Given the description of an element on the screen output the (x, y) to click on. 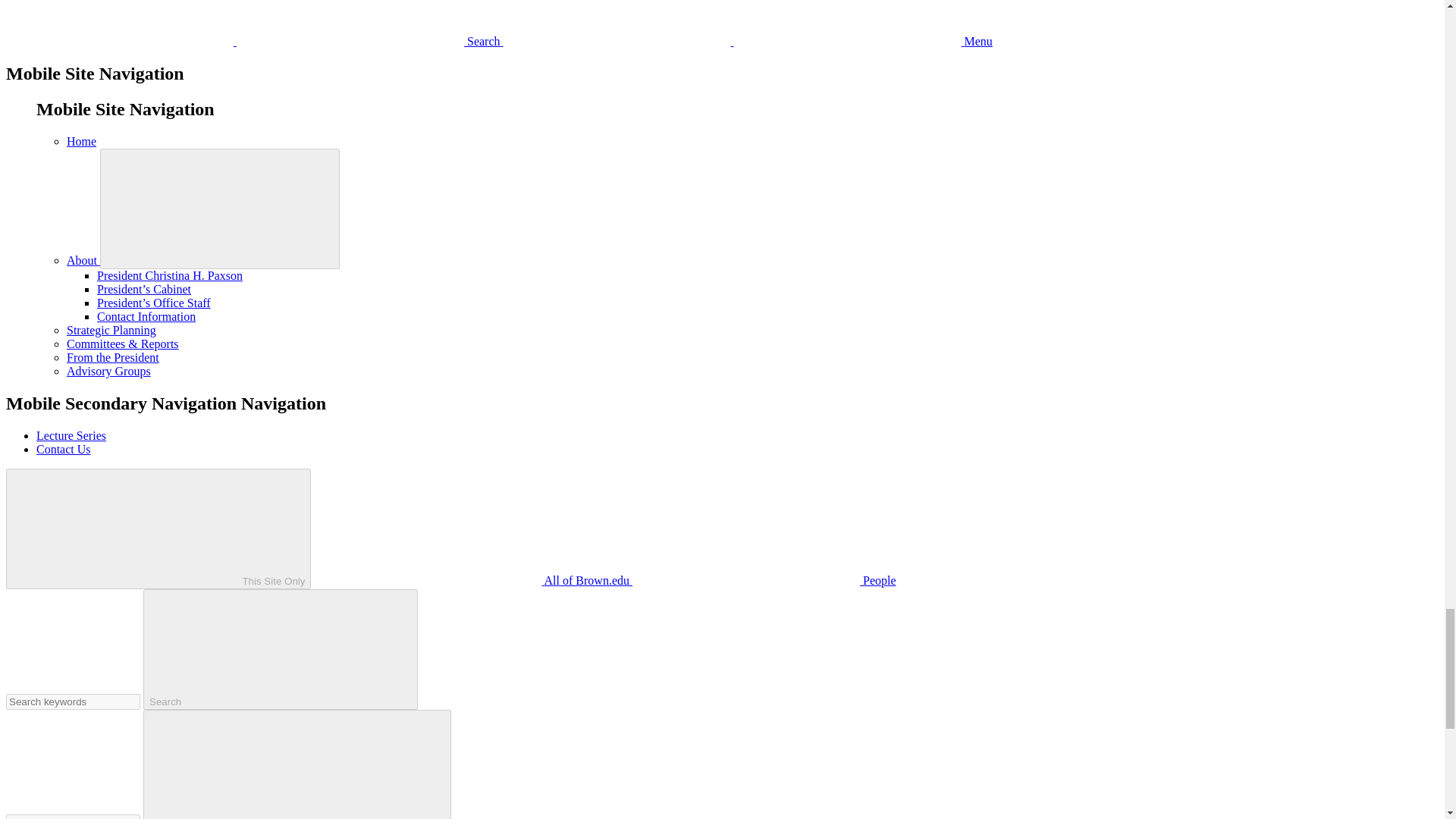
About (83, 259)
Search (254, 41)
Home (81, 141)
Menu (747, 41)
